Given the description of an element on the screen output the (x, y) to click on. 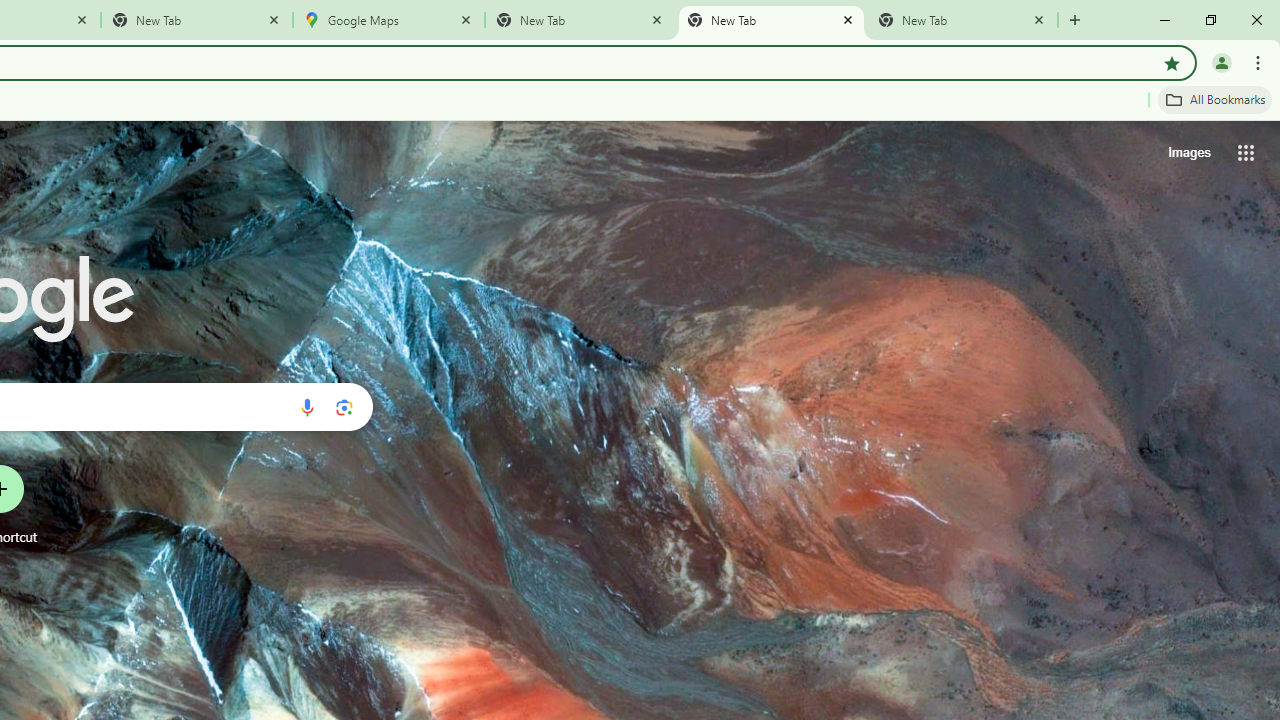
New Tab (962, 20)
New Tab (197, 20)
